Given the description of an element on the screen output the (x, y) to click on. 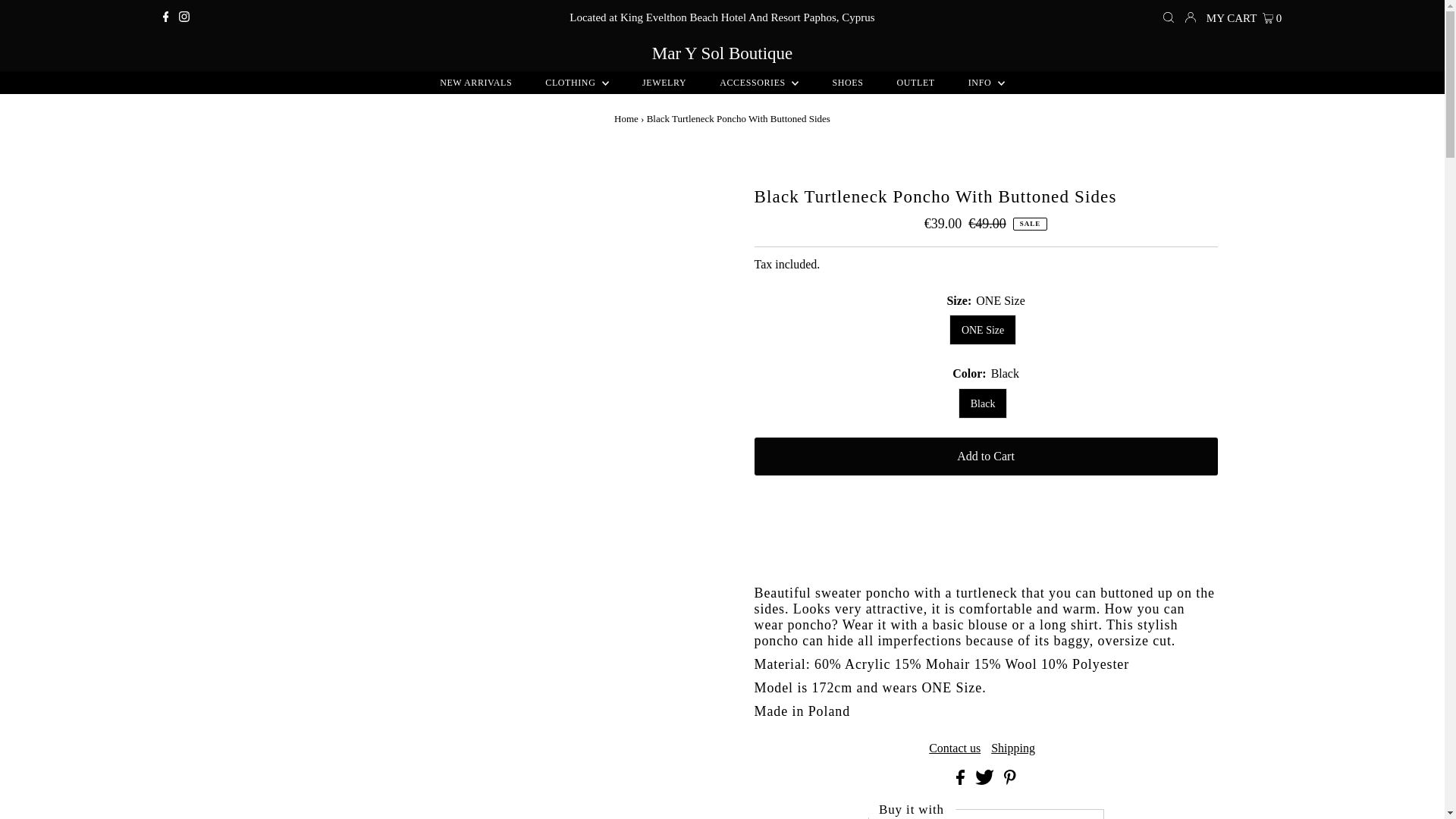
Add to Cart (985, 456)
NEW ARRIVALS (476, 82)
Share on Twitter (986, 780)
Home (626, 118)
Share on Pinterest (1010, 780)
Mar Y Sol Boutique (722, 53)
